Given the description of an element on the screen output the (x, y) to click on. 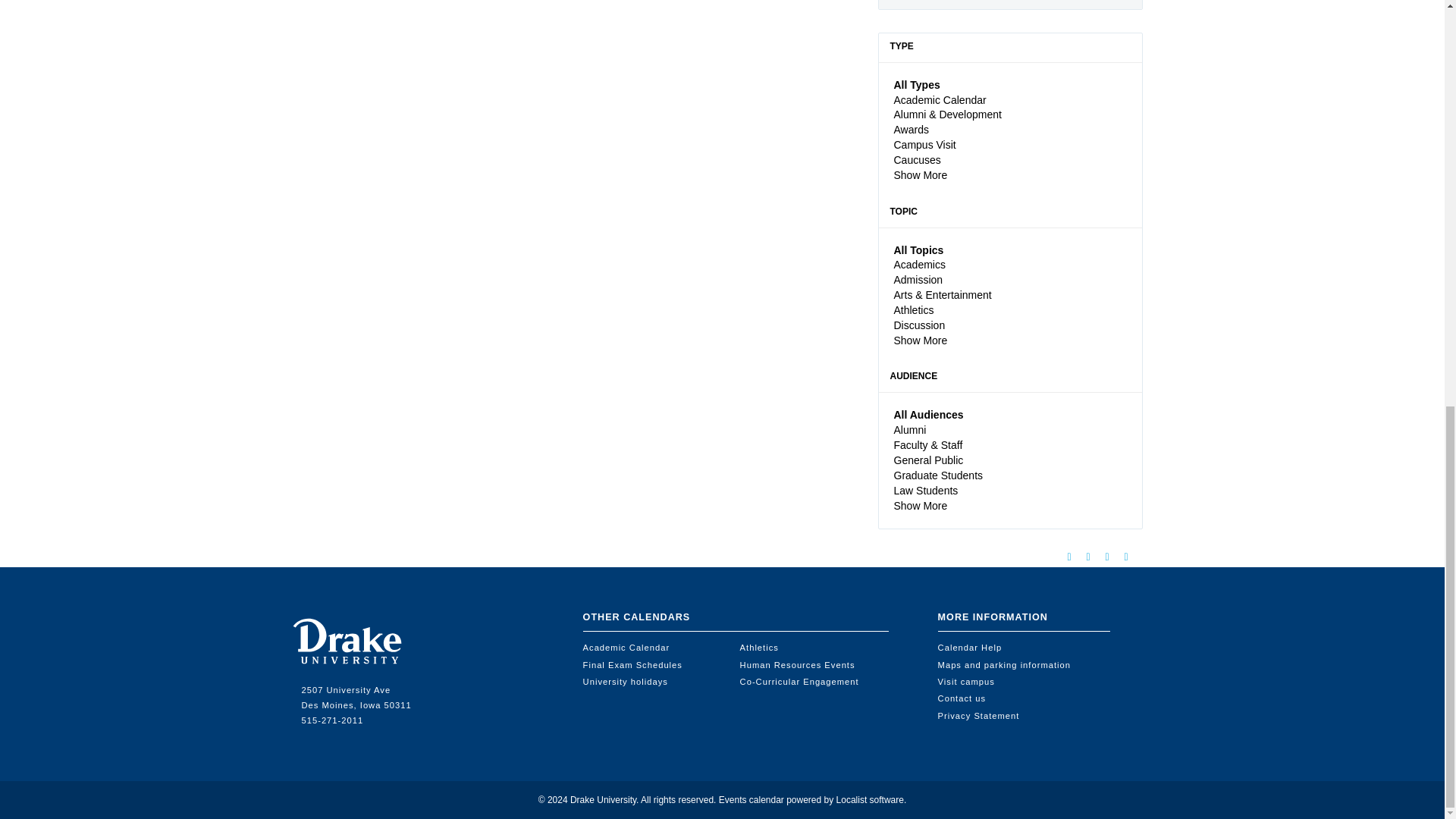
Subscribe to these results in iCal (1093, 559)
Subscribe to these results in Outlook (1112, 559)
Subscribe to these results as an RSS Feed (1131, 559)
Subscribe to these results in Google Calendar (1074, 559)
